Given the description of an element on the screen output the (x, y) to click on. 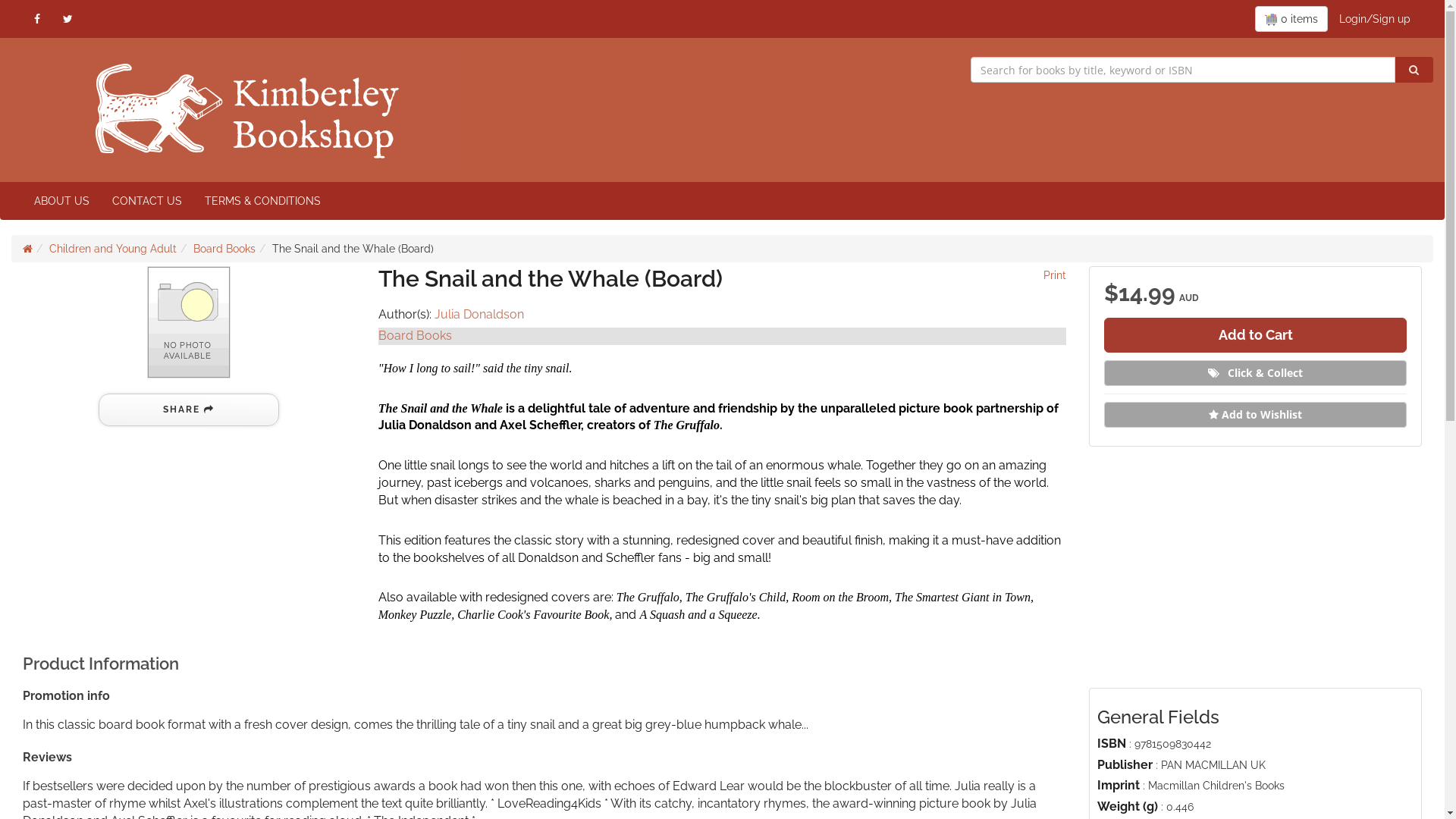
Board Books Element type: text (224, 248)
Login/Sign up Element type: text (1374, 18)
The Snail and the Whale (Board) Element type: hover (188, 322)
Add to Wishlist Element type: text (1255, 414)
TERMS & CONDITIONS Element type: text (262, 200)
Children and Young Adult Element type: text (112, 248)
ABOUT US Element type: text (61, 200)
Add to Cart Element type: text (1255, 334)
Click & Collect Element type: text (1255, 372)
Board Books Element type: text (414, 335)
0 items Element type: text (1291, 18)
Julia Donaldson Element type: text (479, 314)
CONTACT US Element type: text (146, 200)
0 items Element type: text (1291, 18)
 Print Element type: text (1053, 275)
SHARE Element type: text (188, 409)
